Given the description of an element on the screen output the (x, y) to click on. 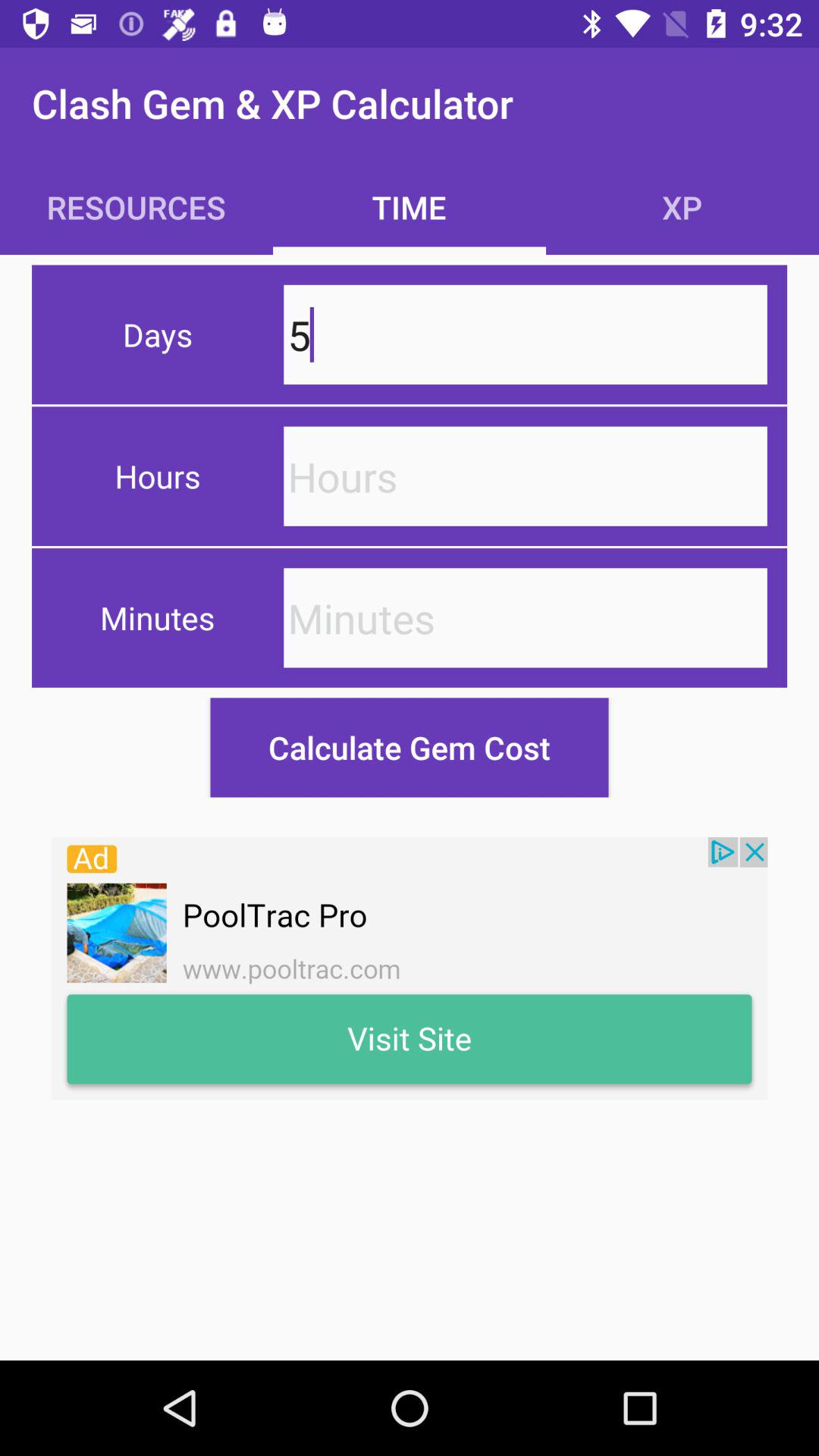
go to advertising partner (409, 968)
